Given the description of an element on the screen output the (x, y) to click on. 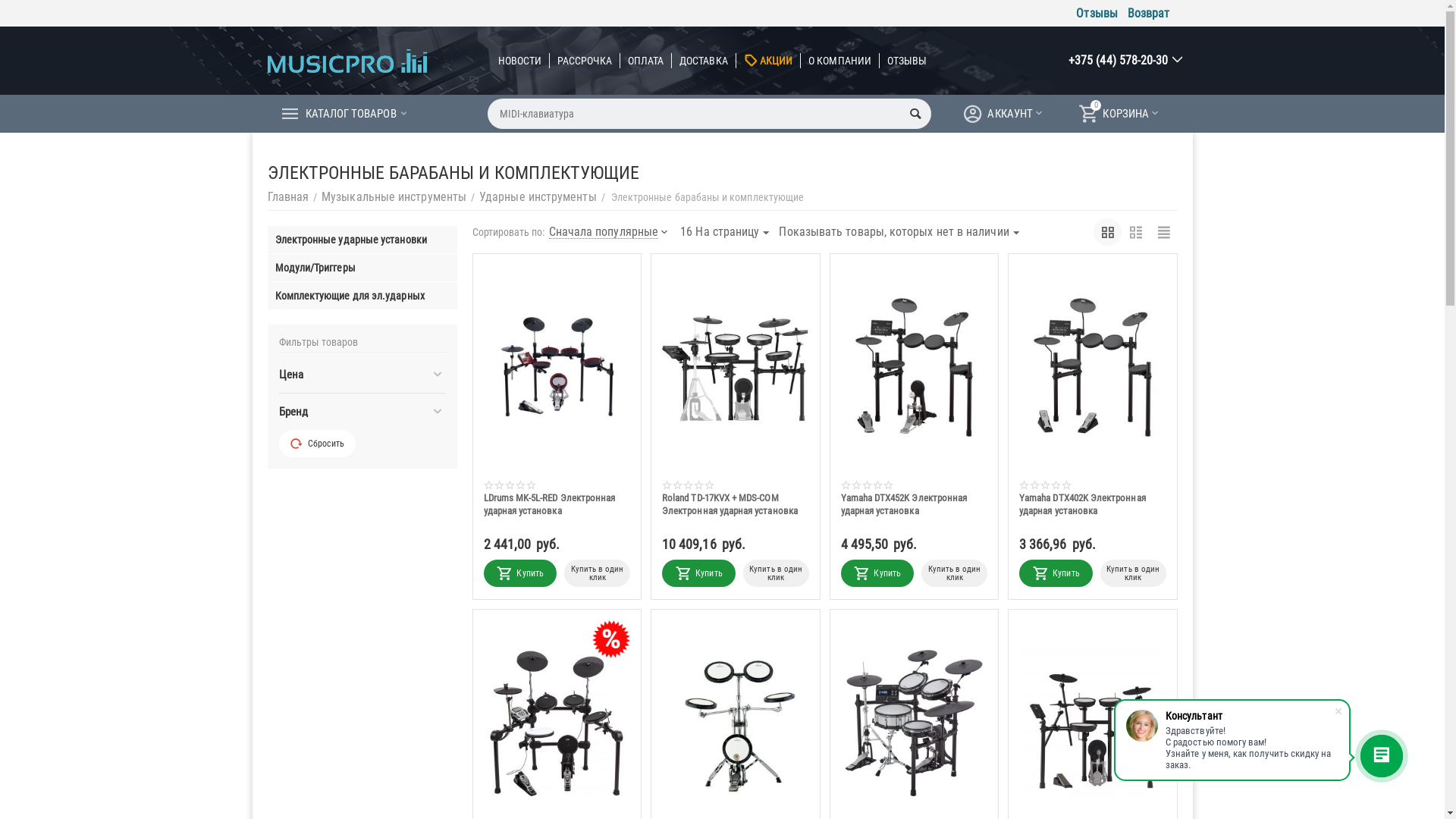
+375 (44) 578-20-30 Element type: text (1118, 60)
musicpro.by Element type: hover (346, 60)
musicpro.by Element type: hover (346, 60)
